Given the description of an element on the screen output the (x, y) to click on. 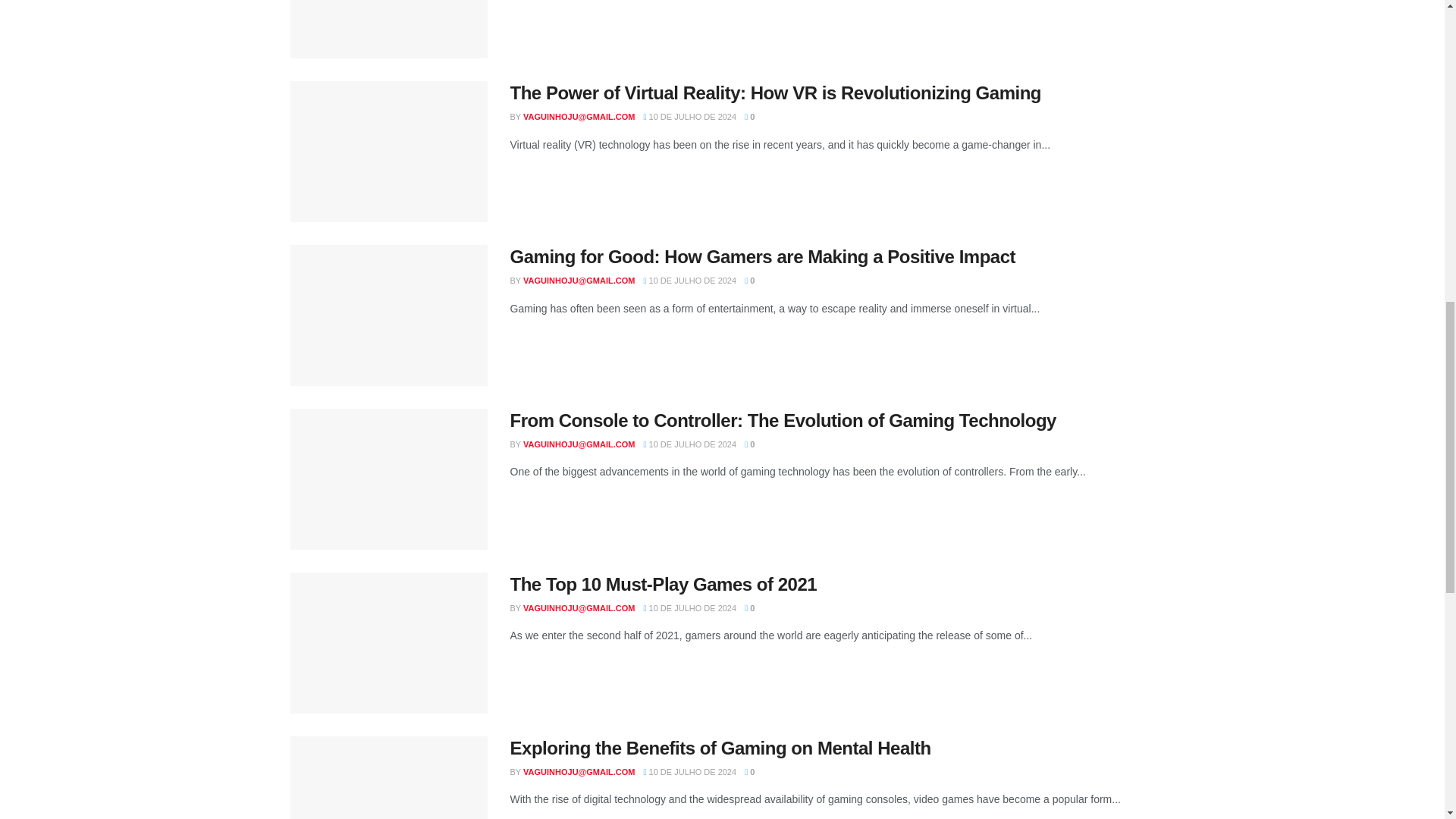
10 DE JULHO DE 2024 (689, 280)
0 (749, 116)
Gaming for Good: How Gamers are Making a Positive Impact (761, 256)
0 (749, 280)
10 DE JULHO DE 2024 (689, 116)
